Given the description of an element on the screen output the (x, y) to click on. 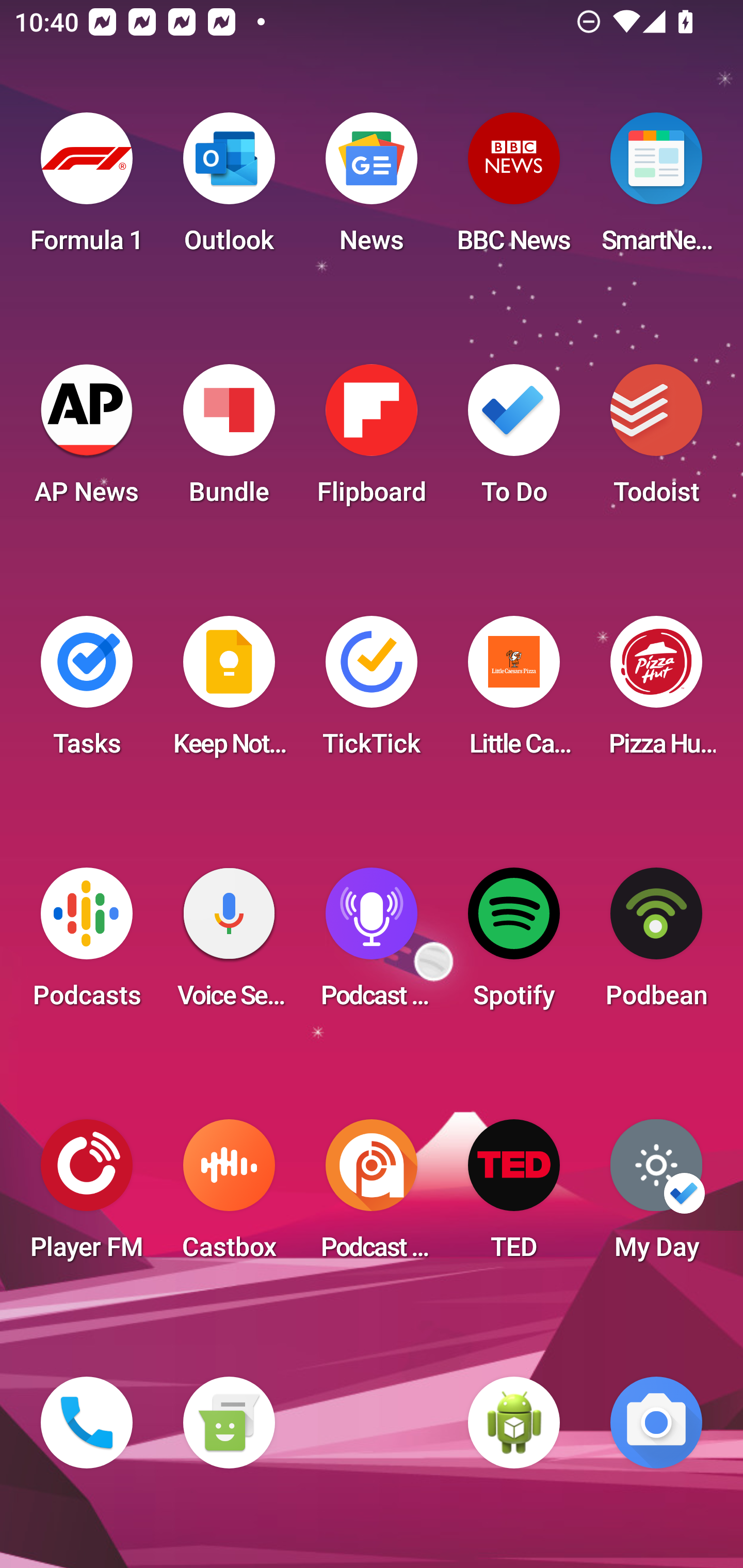
Formula 1 (86, 188)
Outlook (228, 188)
News (371, 188)
BBC News (513, 188)
SmartNews (656, 188)
AP News (86, 440)
Bundle (228, 440)
Flipboard (371, 440)
To Do (513, 440)
Todoist (656, 440)
Tasks (86, 692)
Keep Notes (228, 692)
TickTick (371, 692)
Little Caesars Pizza (513, 692)
Pizza Hut HK & Macau (656, 692)
Podcasts (86, 943)
Voice Search (228, 943)
Podcast Player (371, 943)
Spotify (513, 943)
Podbean (656, 943)
Player FM (86, 1195)
Castbox (228, 1195)
Podcast Addict (371, 1195)
TED (513, 1195)
My Day (656, 1195)
Phone (86, 1422)
Messaging (228, 1422)
WebView Browser Tester (513, 1422)
Camera (656, 1422)
